Given the description of an element on the screen output the (x, y) to click on. 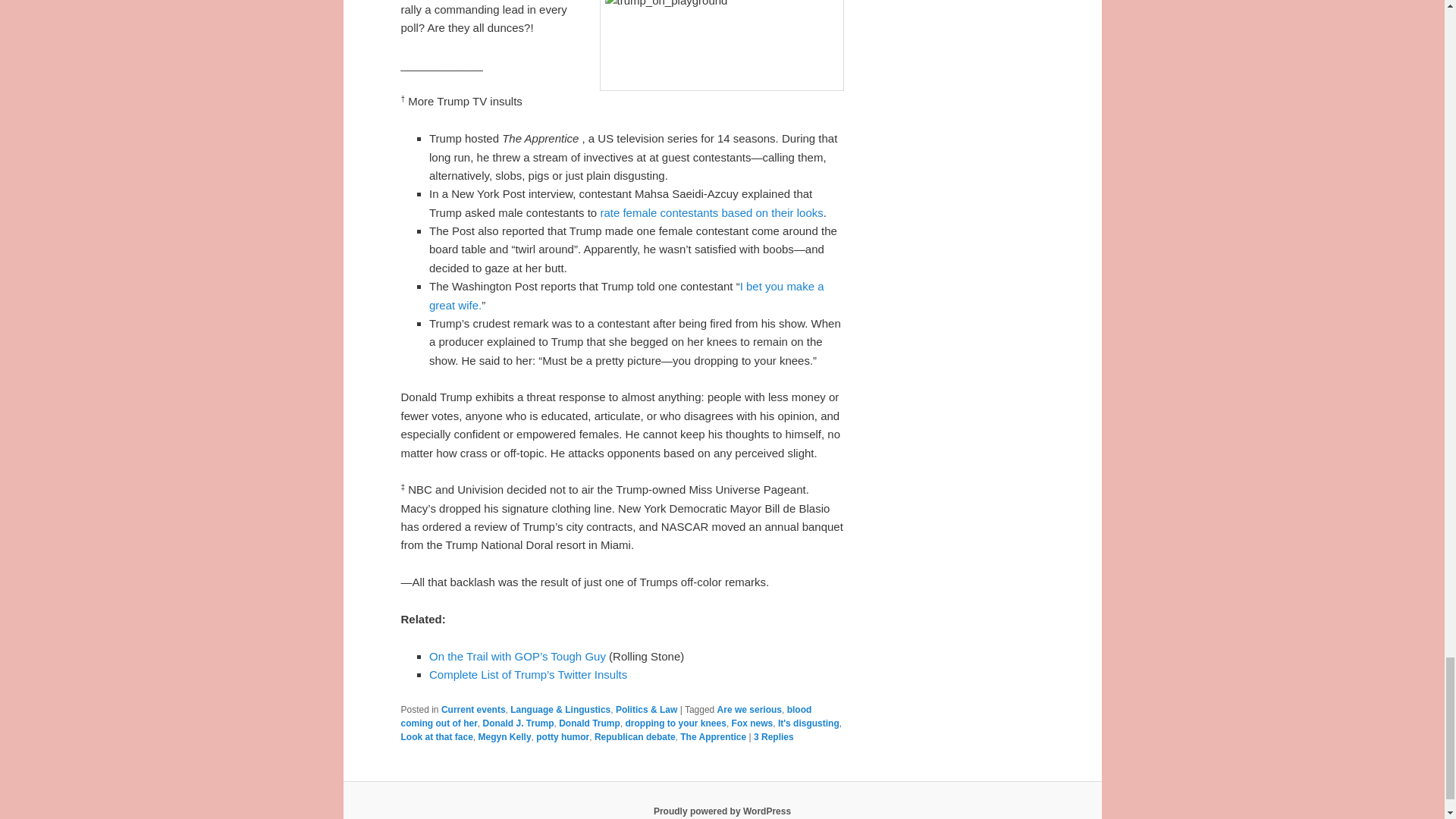
Current events (473, 709)
Donald Trump (589, 723)
rate female contestants based on their looks (710, 212)
Are we serious (749, 709)
I bet you make a great wife. (626, 295)
Fox news (752, 723)
dropping to your knees (676, 723)
Semantic Personal Publishing Platform (721, 810)
Donald J. Trump (517, 723)
It's disgusting (808, 723)
